Given the description of an element on the screen output the (x, y) to click on. 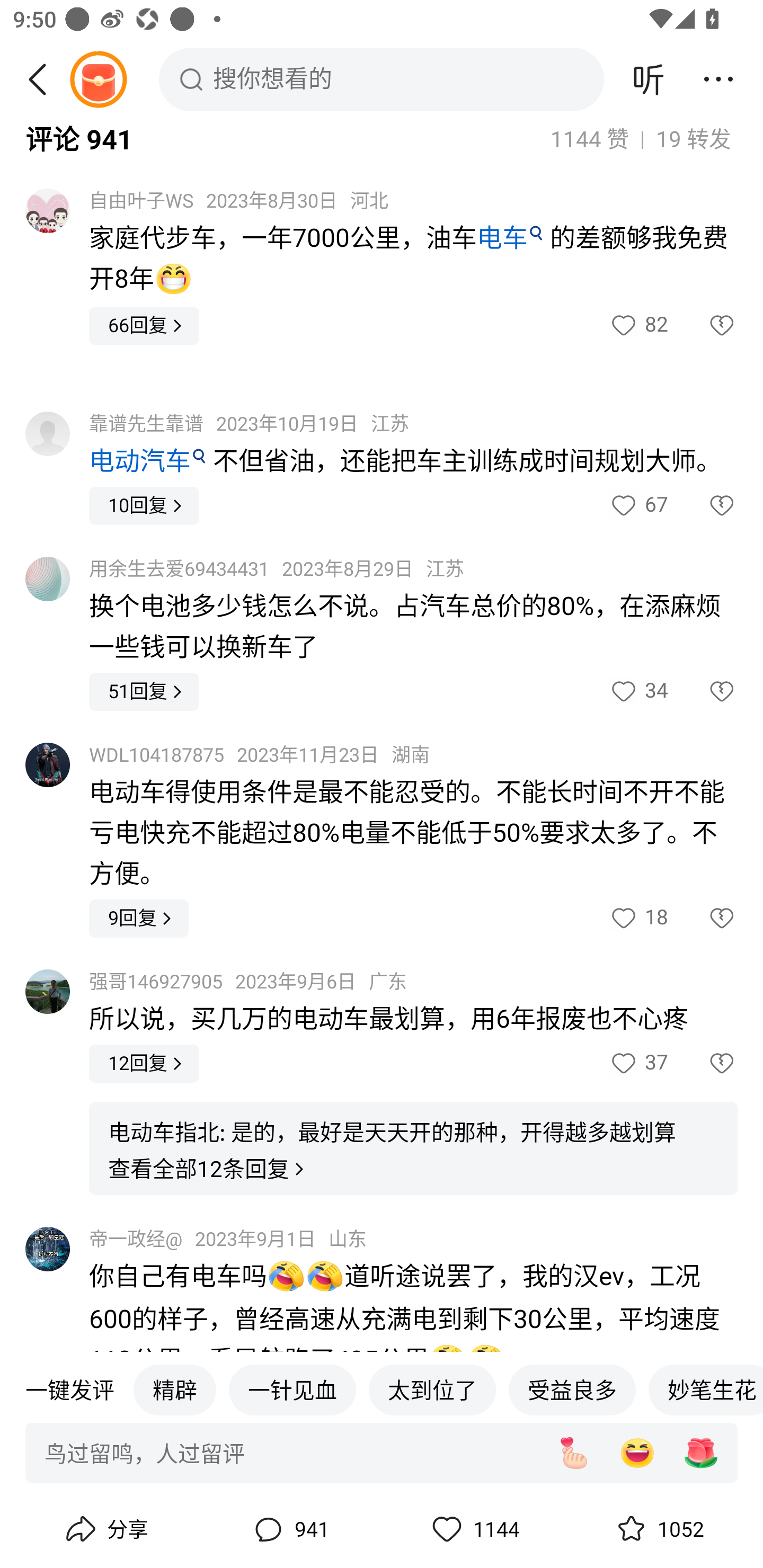
返回 (44, 78)
听头条 (648, 78)
更多操作 (718, 78)
搜你想看的 搜索框，搜你想看的 (381, 79)
阅读赚金币 (98, 79)
自由叶子WS 2023年8月30日 河北 (238, 200)
66回复 (144, 325)
赞82 赞 (637, 325)
踩 (702, 325)
靠谱先生靠谱 2023年10月19日 江苏 (248, 424)
10回复 (144, 505)
赞67 赞 (637, 505)
踩 (702, 505)
用余生去爱69434431 2023年8月29日 江苏 (276, 569)
51回复 (144, 691)
赞34 赞 (637, 691)
踩 (702, 691)
WDL104187875 2023年11月23日 湖南 (259, 755)
9回复 (138, 918)
赞18 赞 (637, 918)
踩 (702, 918)
强哥146927905 2023年9月6日 广东 (247, 981)
12回复 (144, 1063)
赞37 赞 (637, 1063)
踩 (702, 1063)
电动车指北: 是的，最好是天天开的那种，开得越多越划算 查看全部12条回复 (413, 1148)
查看全部12条回复 (208, 1169)
帝一政经@ 2023年9月1日 山东 (228, 1239)
精辟 (174, 1389)
一针见血 (292, 1389)
太到位了 (431, 1389)
受益良多 (571, 1389)
妙笔生花 (705, 1389)
[比心] (573, 1453)
[大笑] (636, 1453)
[玫瑰] (700, 1453)
分享 (104, 1529)
评论,941 941 (288, 1529)
收藏,1052 1052 (658, 1529)
